Given the description of an element on the screen output the (x, y) to click on. 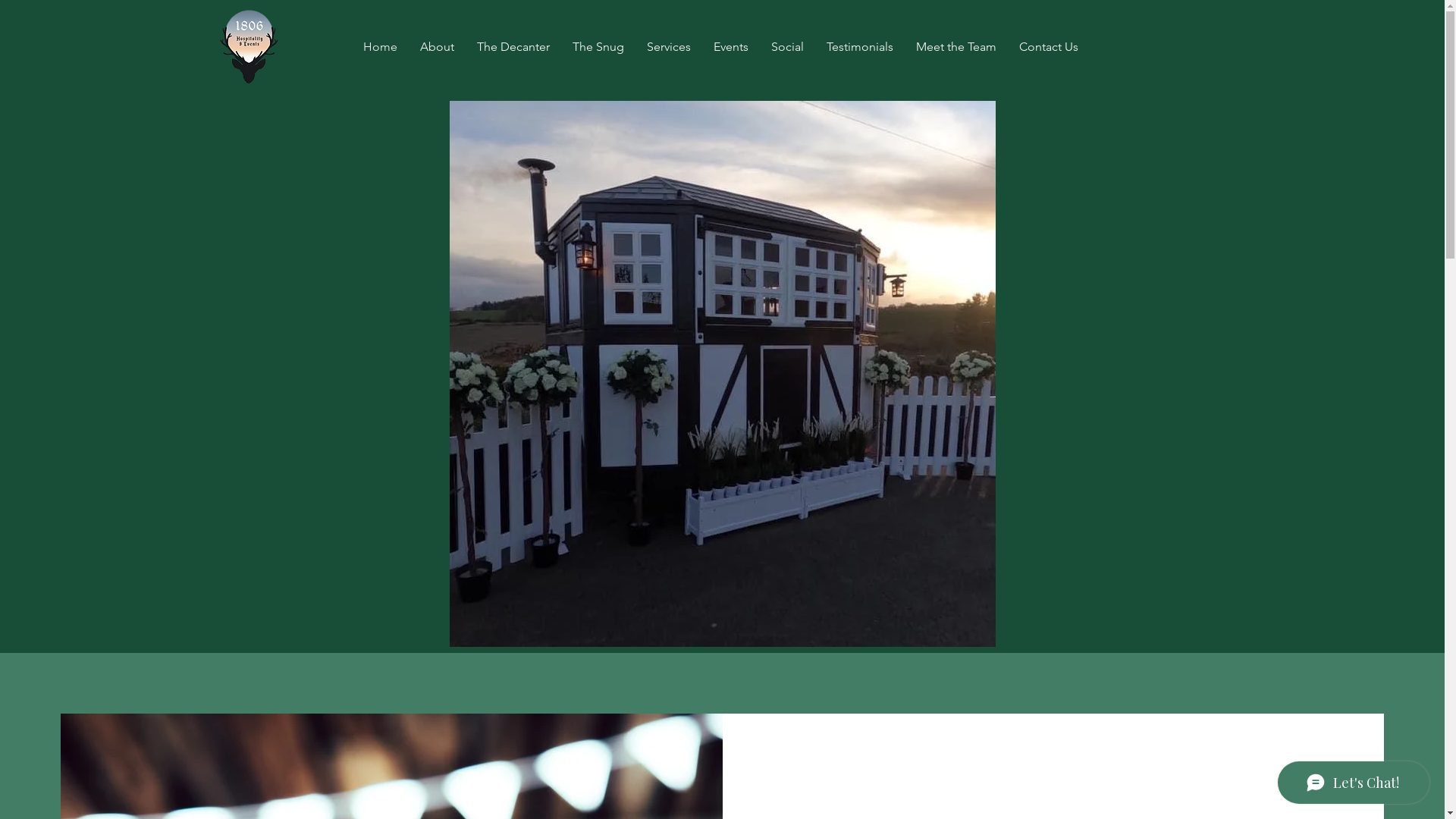
Testimonials Element type: text (858, 46)
Services Element type: text (668, 46)
Events Element type: text (730, 46)
The Snug Element type: text (598, 46)
Contact Us Element type: text (1047, 46)
About Element type: text (435, 46)
Meet the Team Element type: text (955, 46)
The Decanter Element type: text (513, 46)
Home Element type: text (379, 46)
Social Element type: text (787, 46)
